Given the description of an element on the screen output the (x, y) to click on. 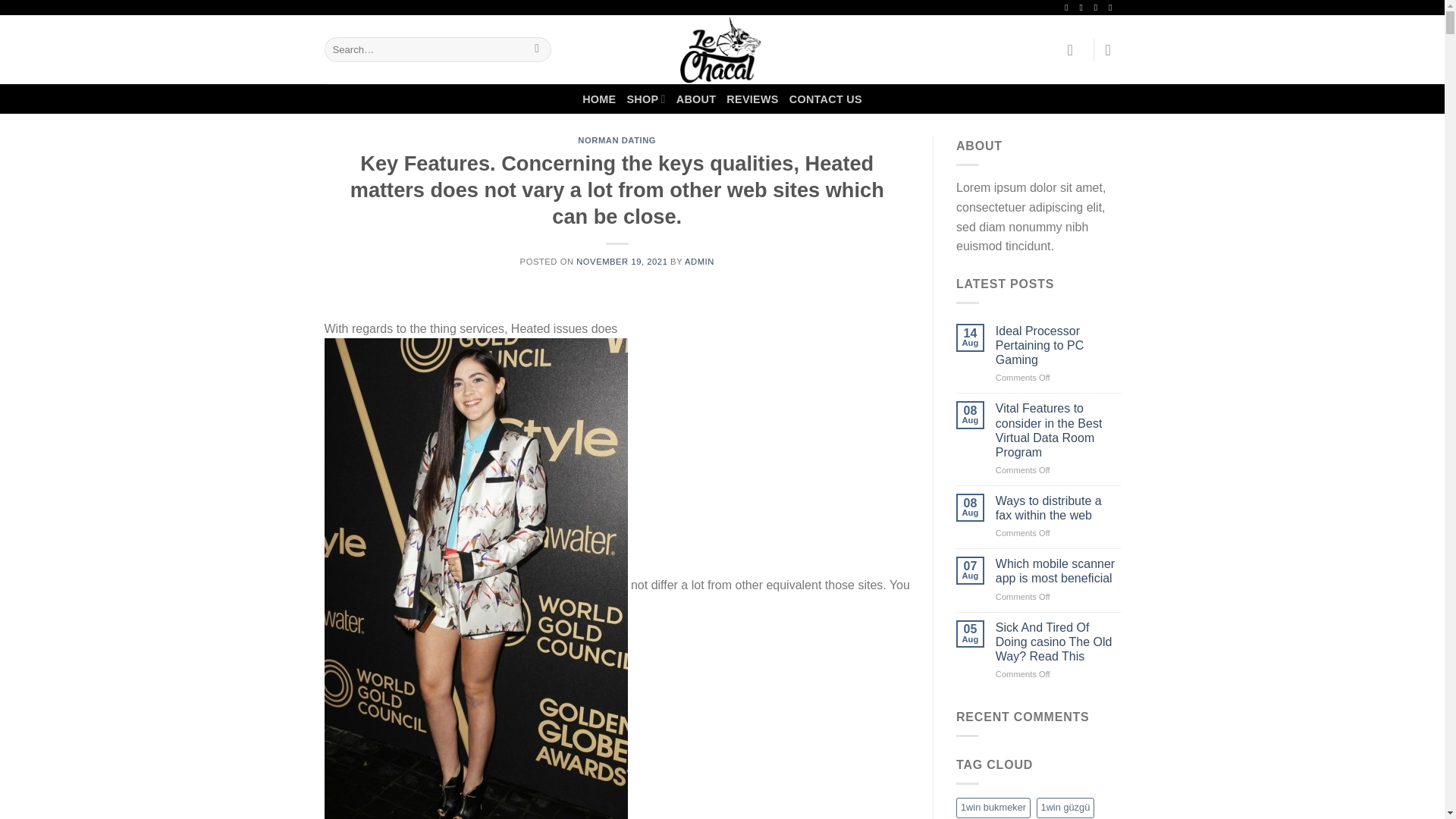
1win bukmeker (993, 807)
Follow on Twitter (1098, 7)
Which mobile scanner app is most beneficial (1058, 570)
REVIEWS (751, 98)
ADMIN (699, 261)
Cart (1113, 49)
HOME (598, 98)
Search (537, 49)
Follow on Facebook (1069, 7)
NORMAN DATING (617, 139)
NOVEMBER 19, 2021 (621, 261)
CONTACT US (825, 98)
Ideal Processor Pertaining to PC Gaming (1058, 345)
